Given the description of an element on the screen output the (x, y) to click on. 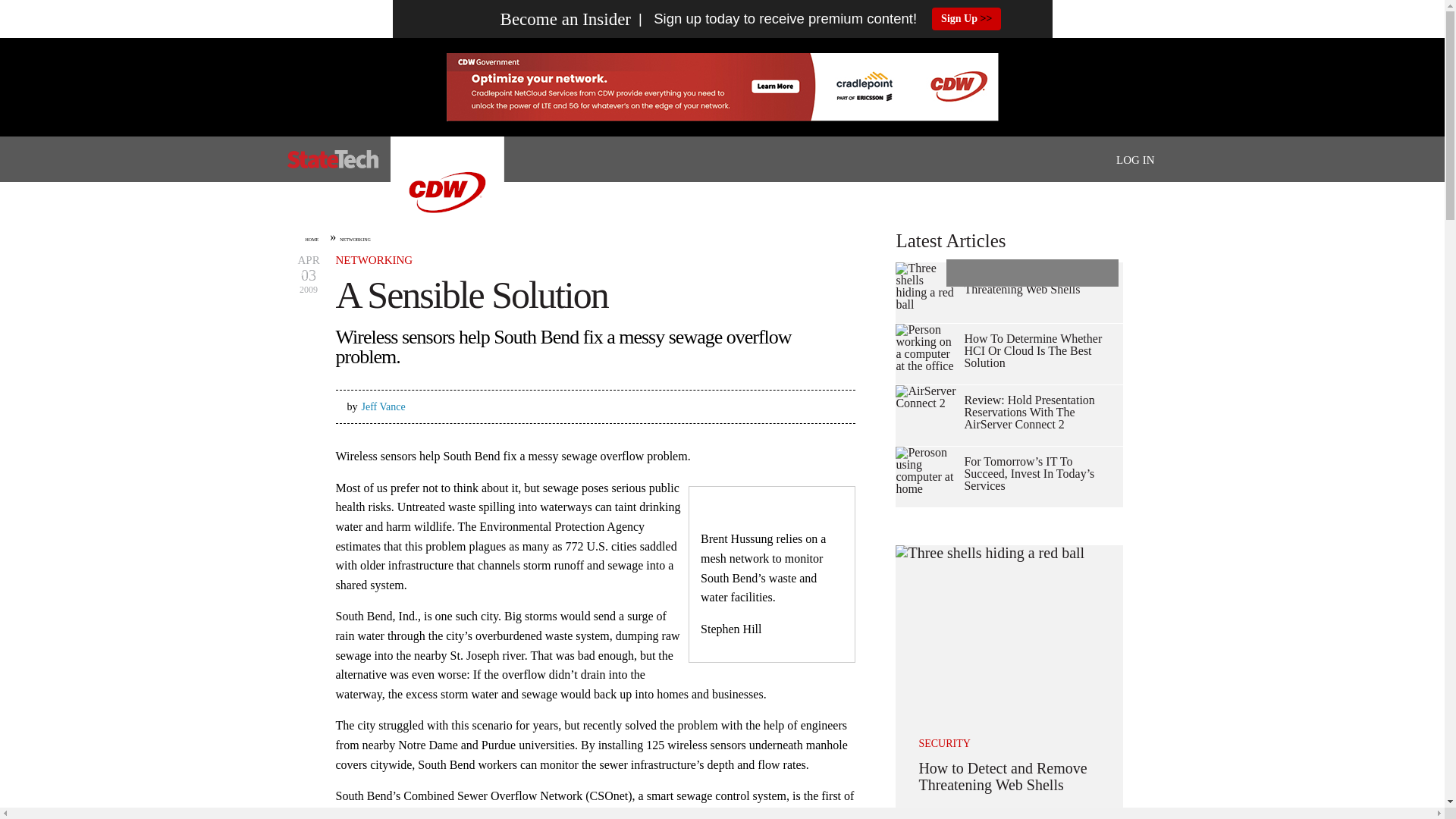
Sign up today to receive premium content! (773, 19)
CDW (446, 244)
STATES (365, 275)
CITIZEN (681, 275)
User menu (1135, 160)
EVENTS (749, 275)
Become an Insider (537, 18)
LOG IN (1135, 159)
CITizen Blog (681, 275)
